Given the description of an element on the screen output the (x, y) to click on. 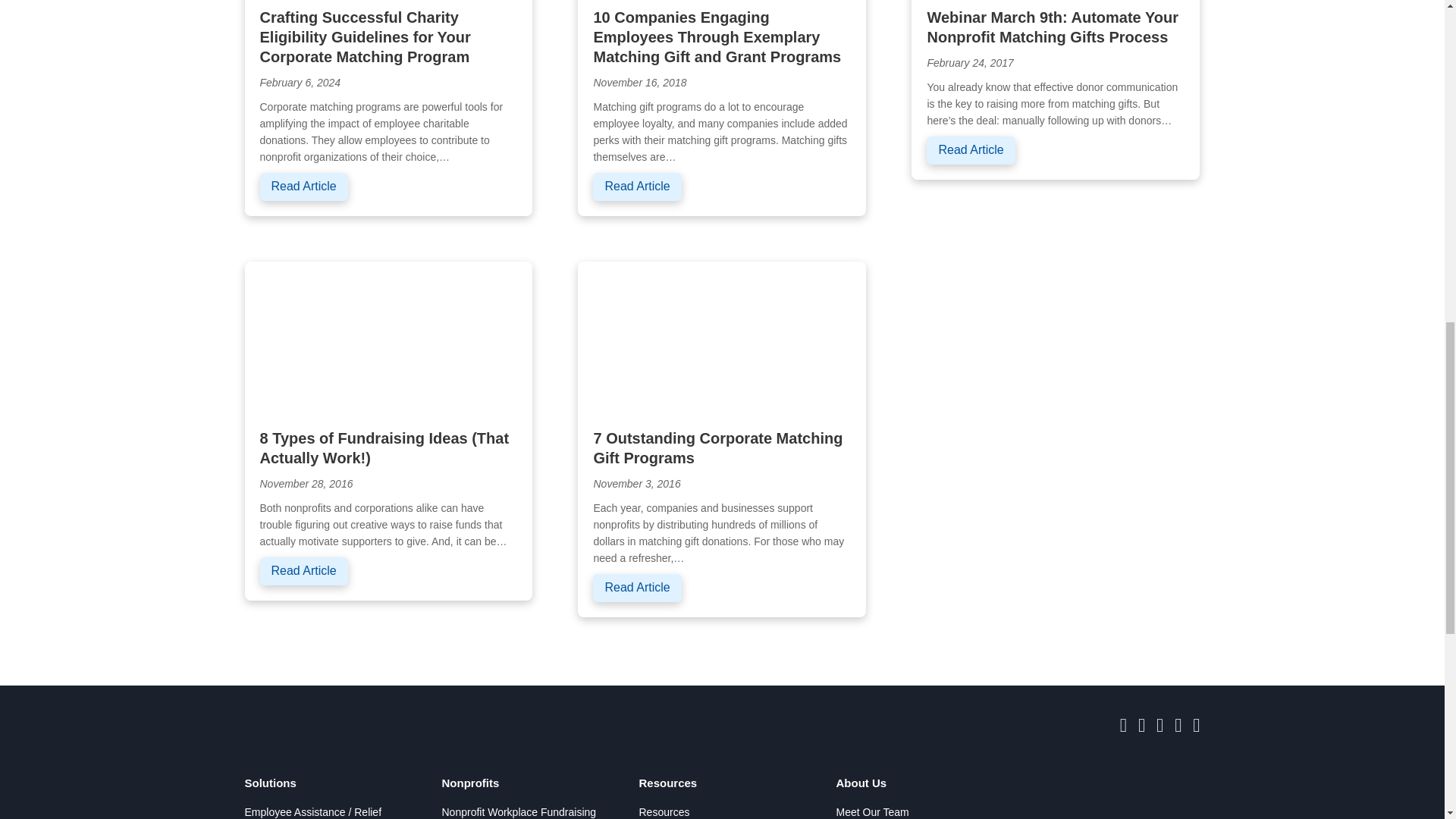
7 Outstanding Corporate Matching Gift Programs (722, 336)
7 Outstanding Corporate Matching Gift Programs (717, 447)
7 Outstanding Corporate Matching Gift Programs (636, 587)
